Given the description of an element on the screen output the (x, y) to click on. 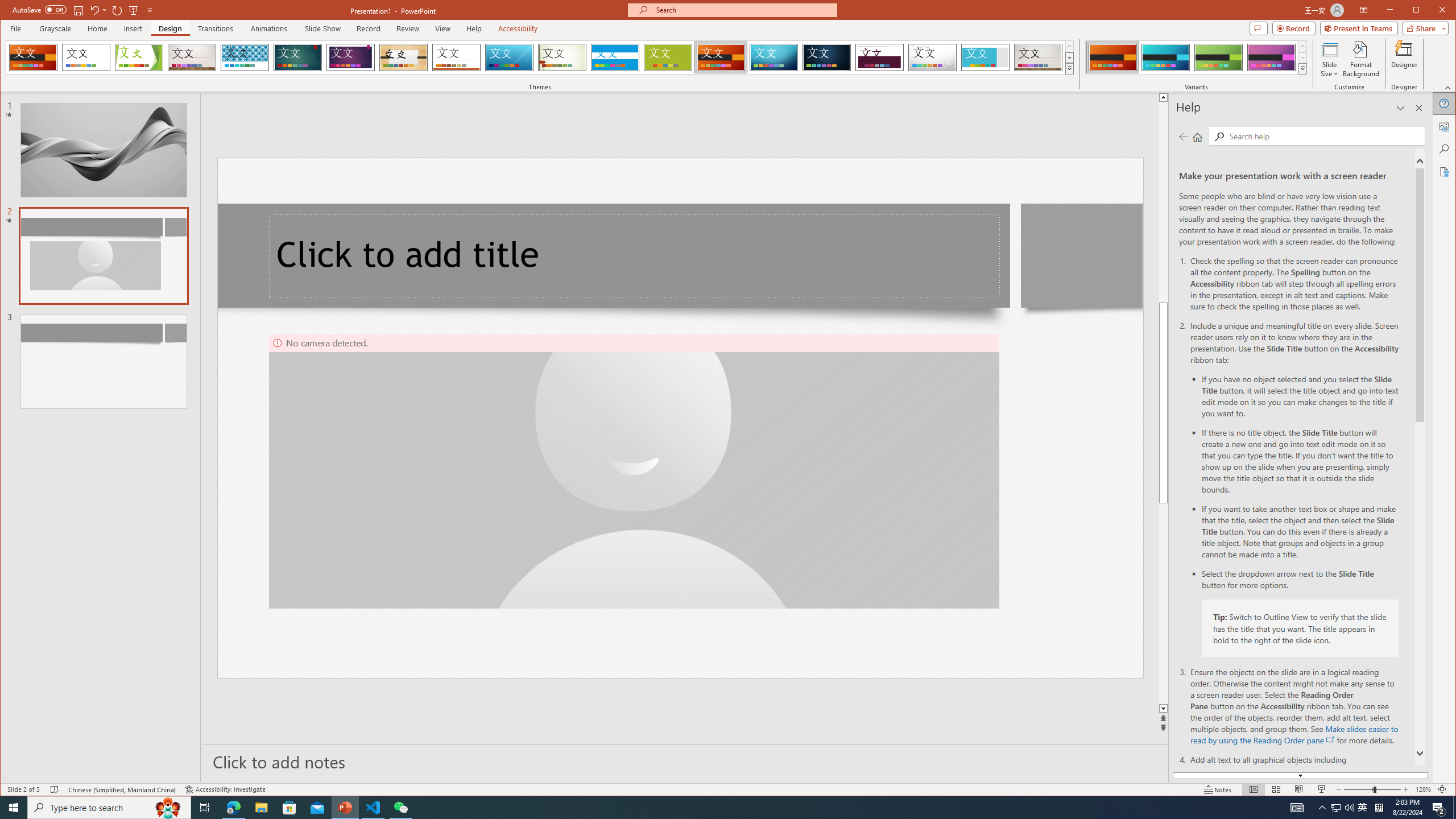
Facet (138, 57)
Droplet (932, 57)
Berlin Variant 4 (1270, 57)
Banded (615, 57)
